Given the description of an element on the screen output the (x, y) to click on. 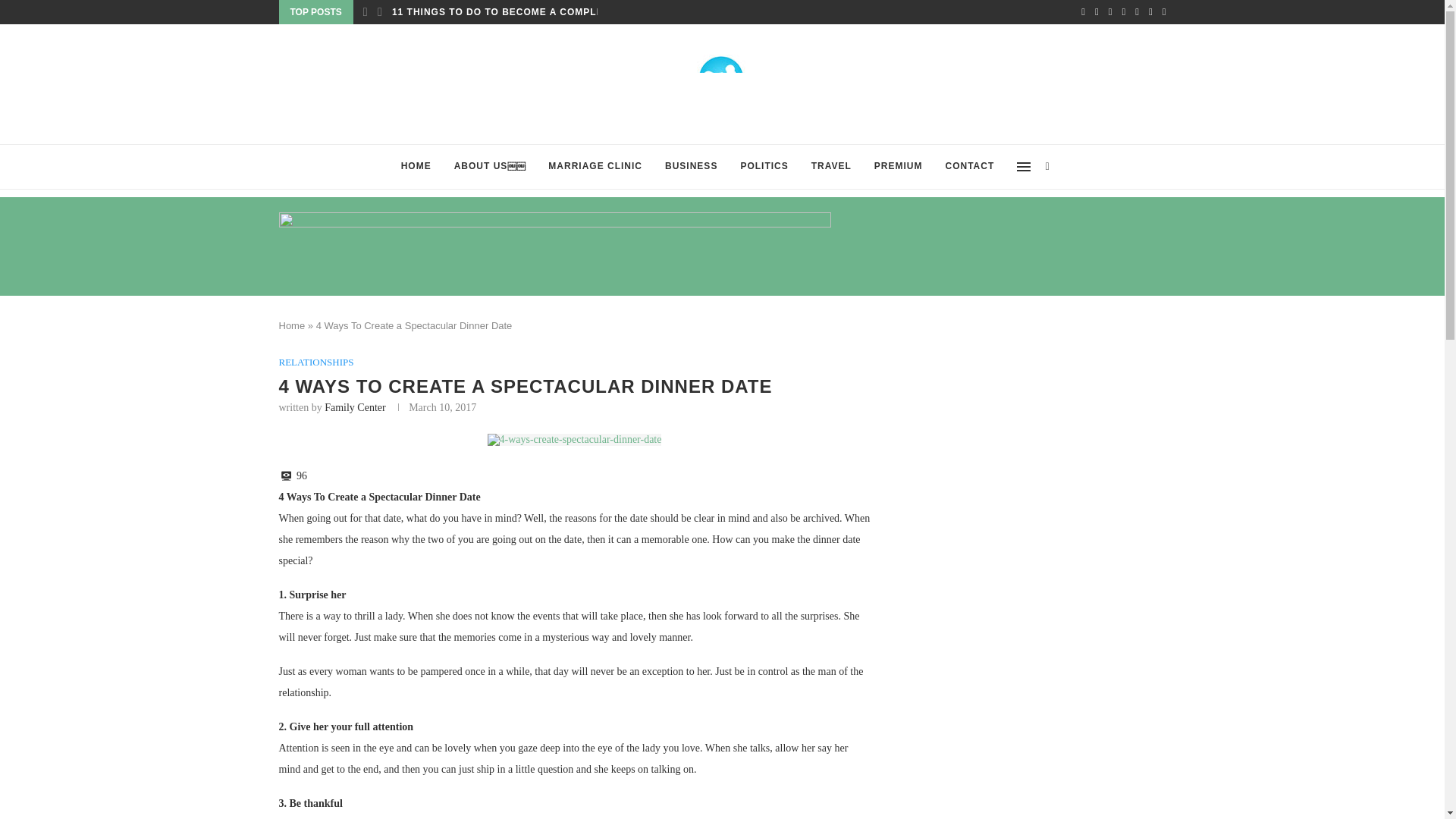
BUSINESS (691, 166)
4 Ways To Create a Spectacular Dinner Date (573, 439)
PREMIUM (898, 166)
Home (292, 325)
TRAVEL (831, 166)
POLITICS (764, 166)
11 THINGS TO DO TO BECOME A COMPLETE... (508, 12)
